Given the description of an element on the screen output the (x, y) to click on. 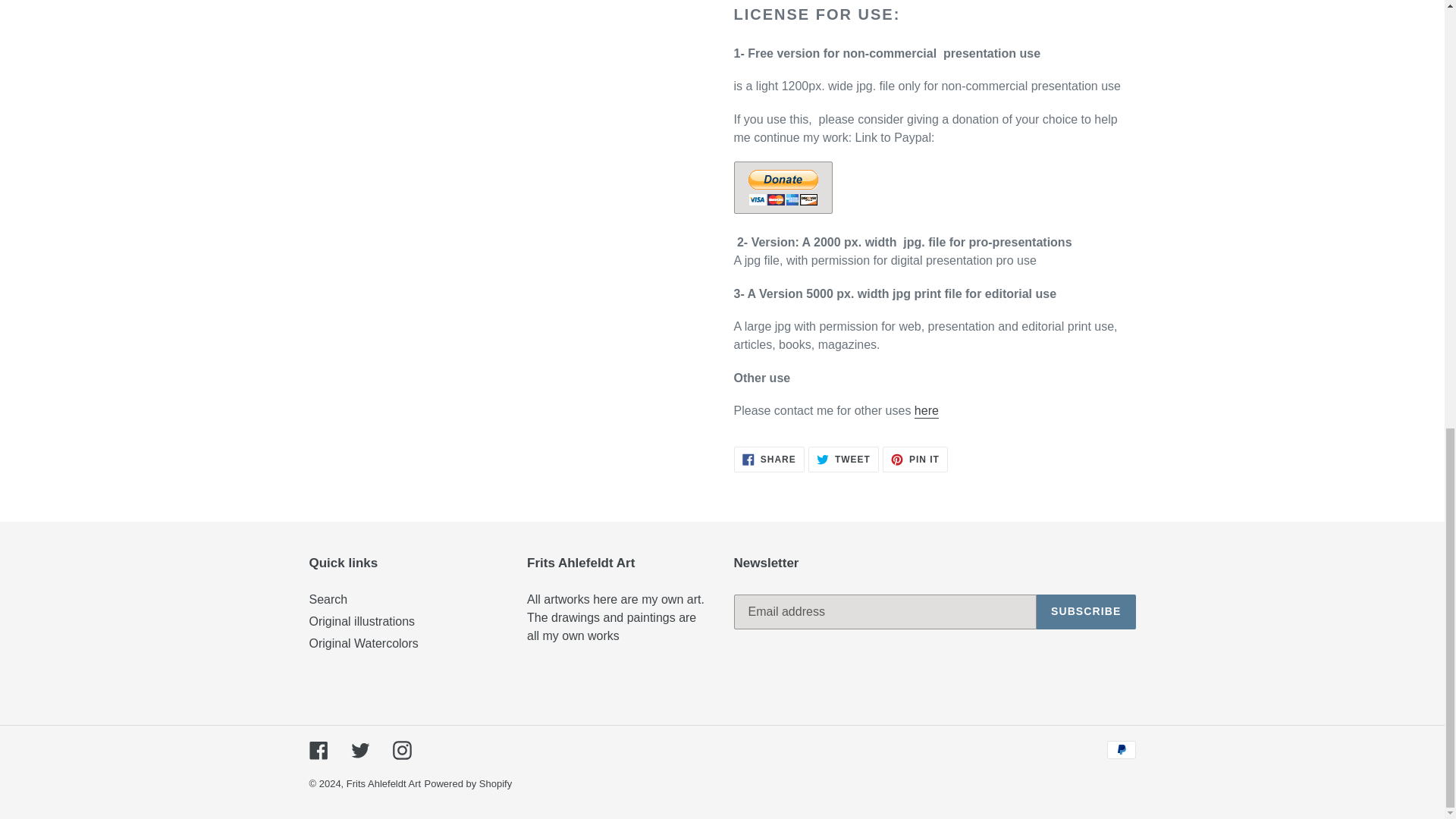
Frits Ahlefeldt Art (383, 783)
Contact form (926, 411)
Twitter (359, 750)
Instagram (402, 750)
Original illustrations (843, 459)
here (361, 621)
Powered by Shopify (926, 411)
SUBSCRIBE (468, 783)
Search (1085, 611)
Facebook (327, 599)
PayPal - The safer, easier way to pay online! (769, 459)
Original Watercolors (318, 750)
